Given the description of an element on the screen output the (x, y) to click on. 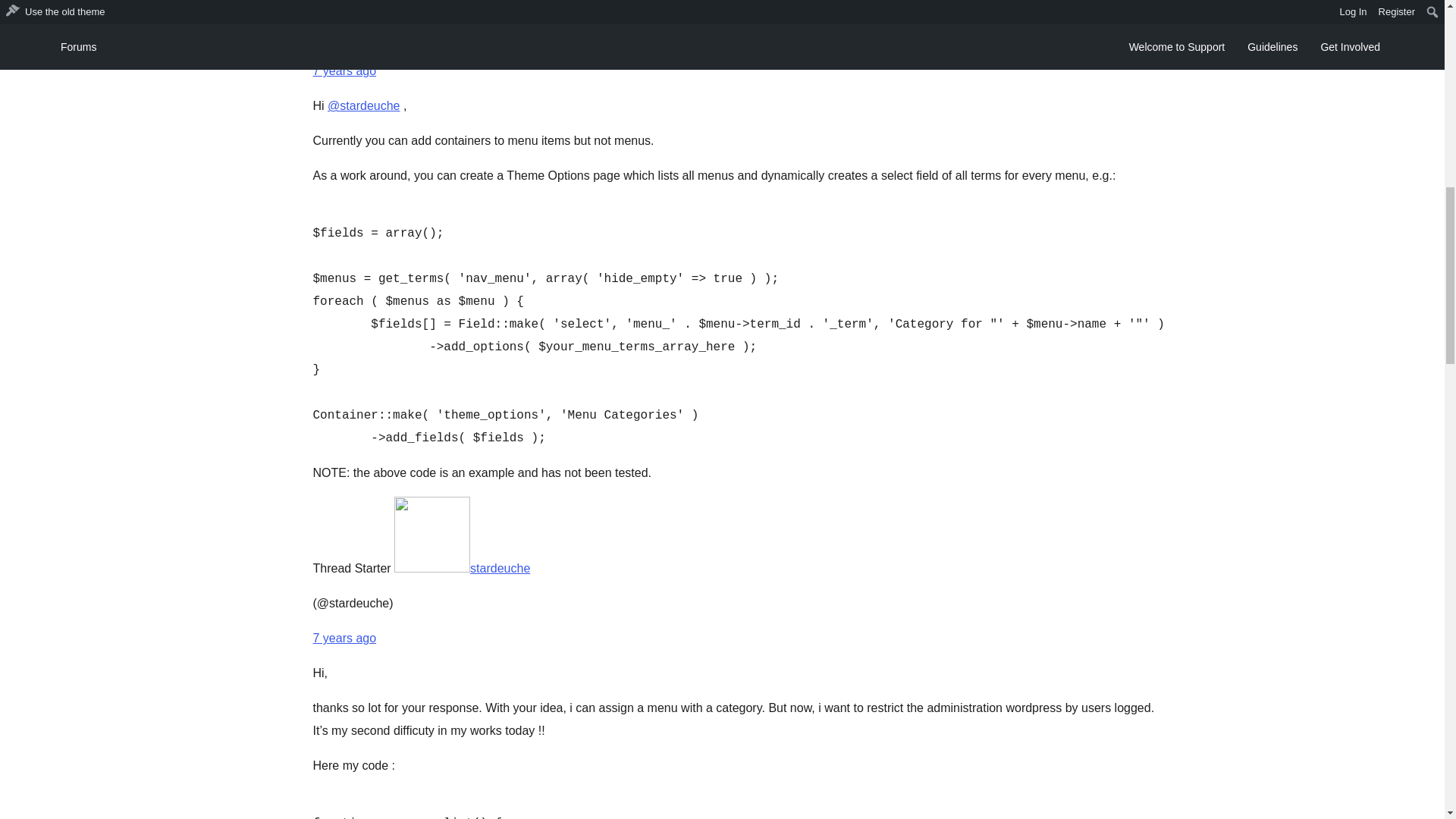
August 16, 2017 at 1:57 pm (344, 637)
August 16, 2017 at 12:17 pm (344, 70)
This person is a contributor to this plugin (361, 3)
View stardeuche's profile (461, 567)
View Atanas Angelov's profile (493, 3)
This person created the thread (351, 567)
